Given the description of an element on the screen output the (x, y) to click on. 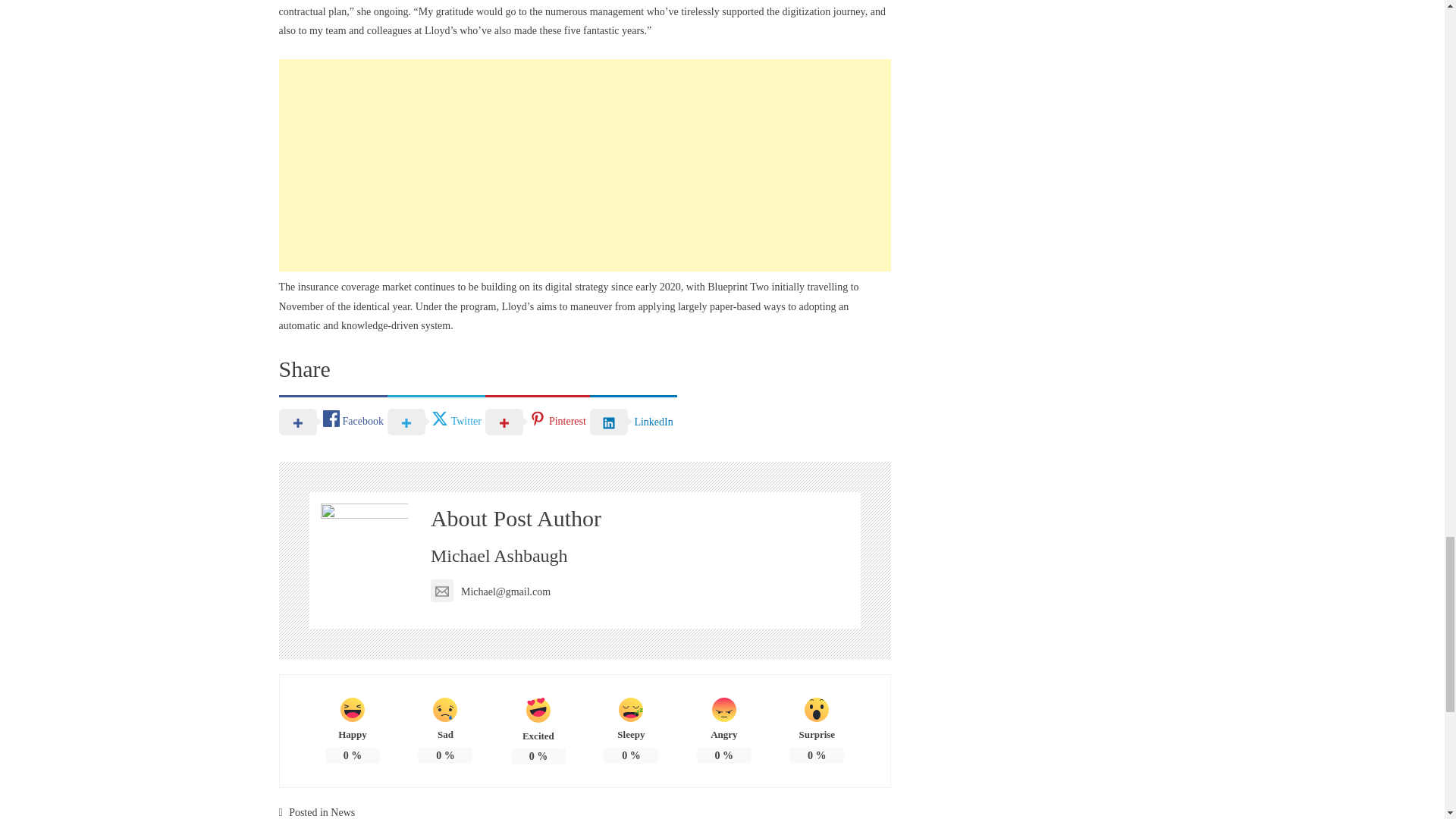
Twitter (435, 420)
Michael Ashbaugh (498, 555)
Advertisement (585, 164)
LinkedIn (633, 420)
Facebook (333, 420)
Pinterest (536, 420)
News (342, 812)
